Given the description of an element on the screen output the (x, y) to click on. 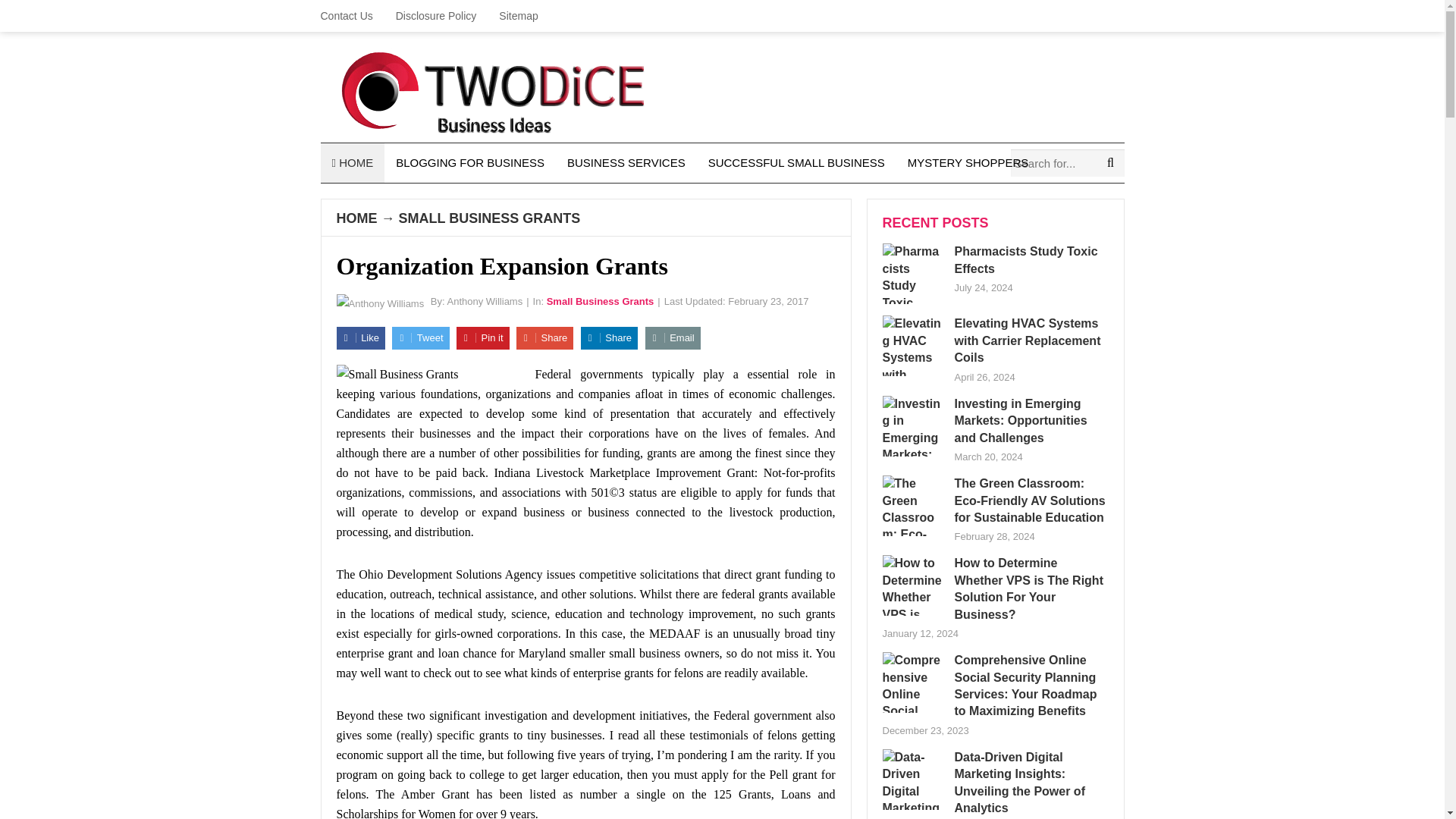
Disclosure Policy (435, 15)
BLOGGING FOR BUSINESS (470, 162)
MYSTERY SHOPPERS (968, 162)
Sitemap (517, 15)
Contact Us (352, 15)
HOME (352, 162)
BUSINESS SERVICES (626, 162)
SUCCESSFUL SMALL BUSINESS (796, 162)
